Given the description of an element on the screen output the (x, y) to click on. 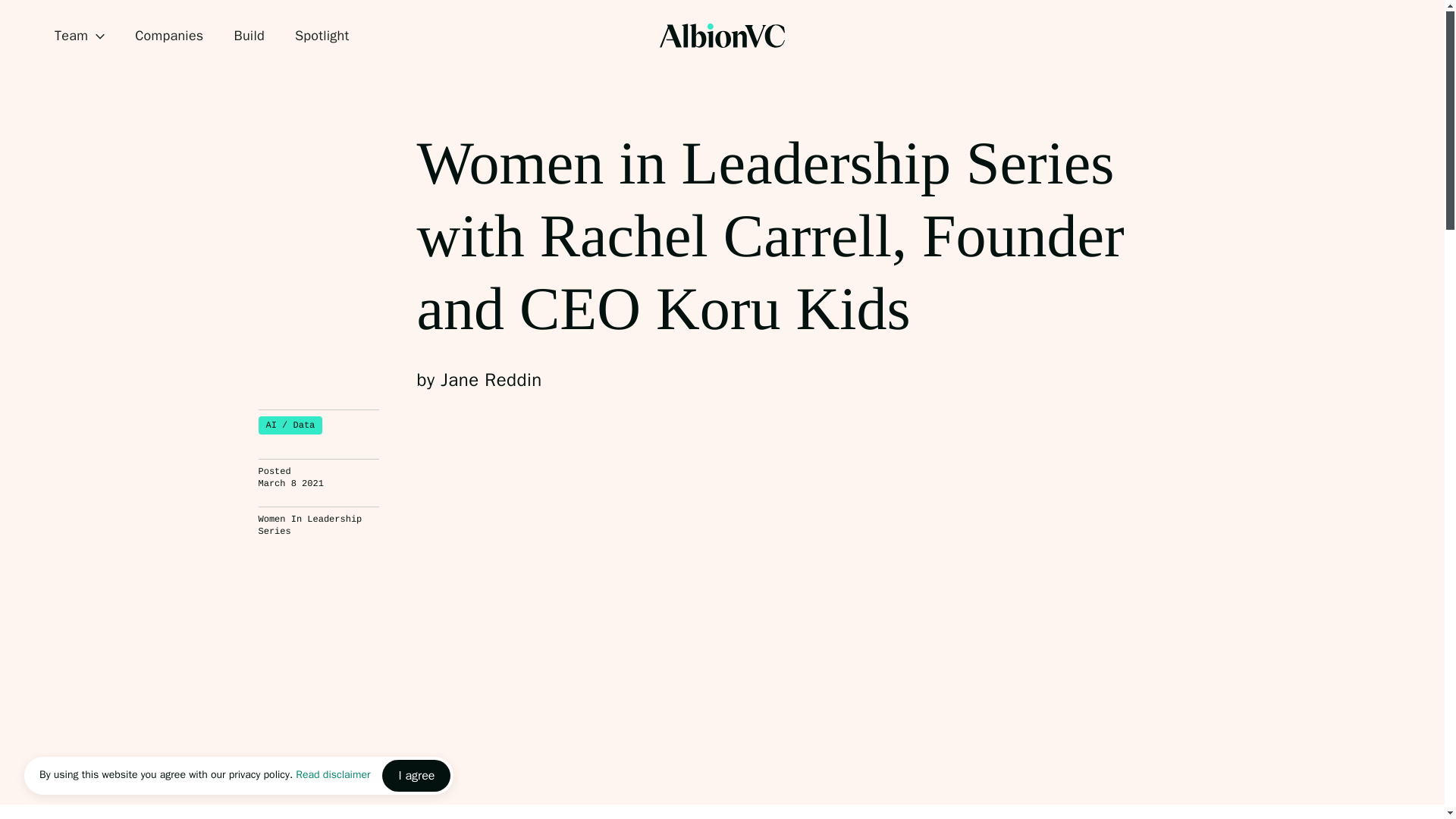
Skip to content. (25, 13)
Companies (169, 36)
I agree (415, 775)
Spotlight (322, 36)
Read disclaimer (332, 775)
Build (247, 36)
